Given the description of an element on the screen output the (x, y) to click on. 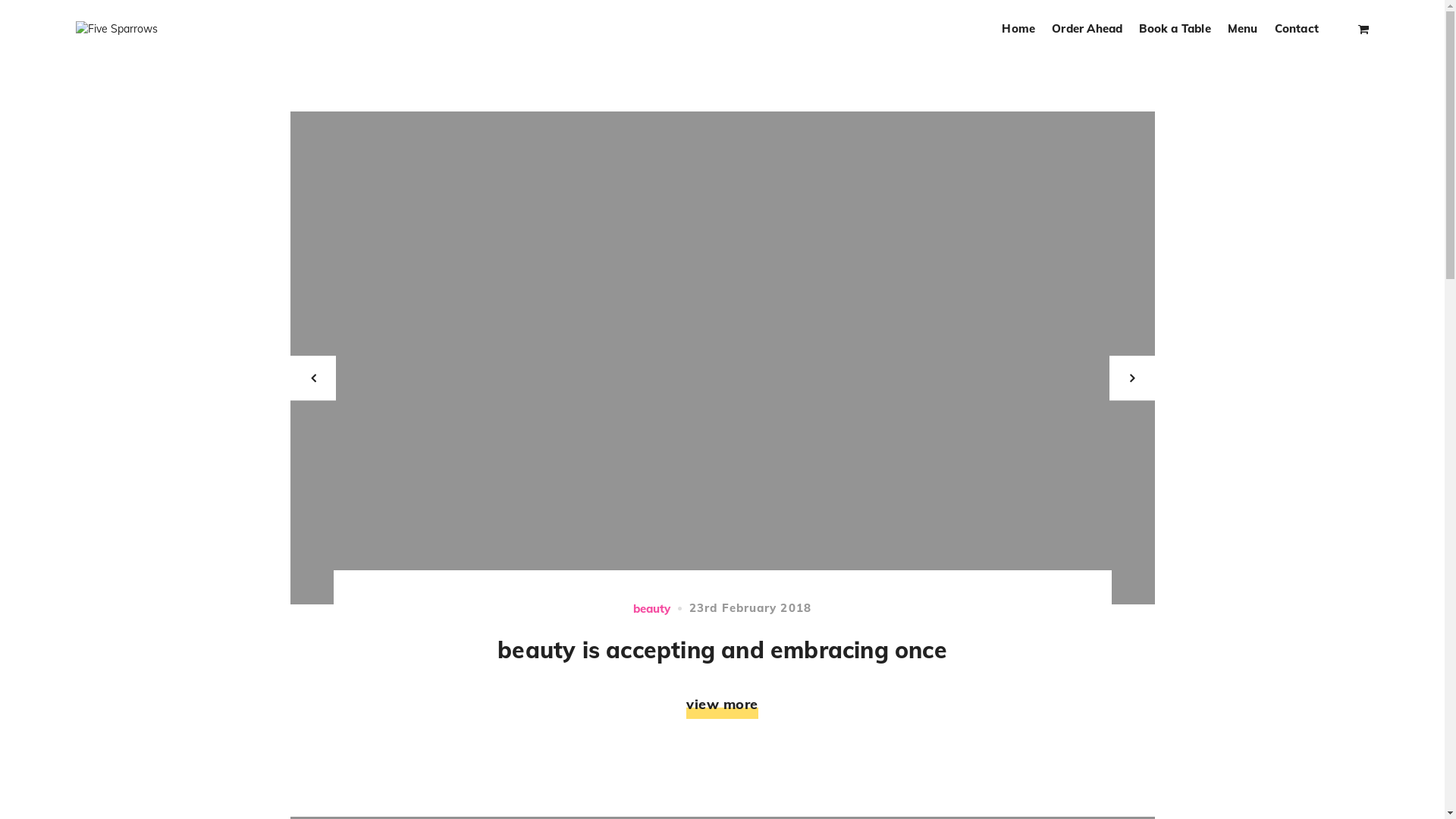
Menu Element type: text (1242, 28)
Book a Table Element type: text (1174, 28)
Contact Element type: text (1296, 28)
23rd February 2018 Element type: text (750, 607)
view your shopping cart Element type: hover (1363, 27)
beauty Element type: text (651, 607)
Order Ahead Element type: text (1086, 28)
view more Element type: text (722, 704)
Home Element type: text (1018, 28)
